Given the description of an element on the screen output the (x, y) to click on. 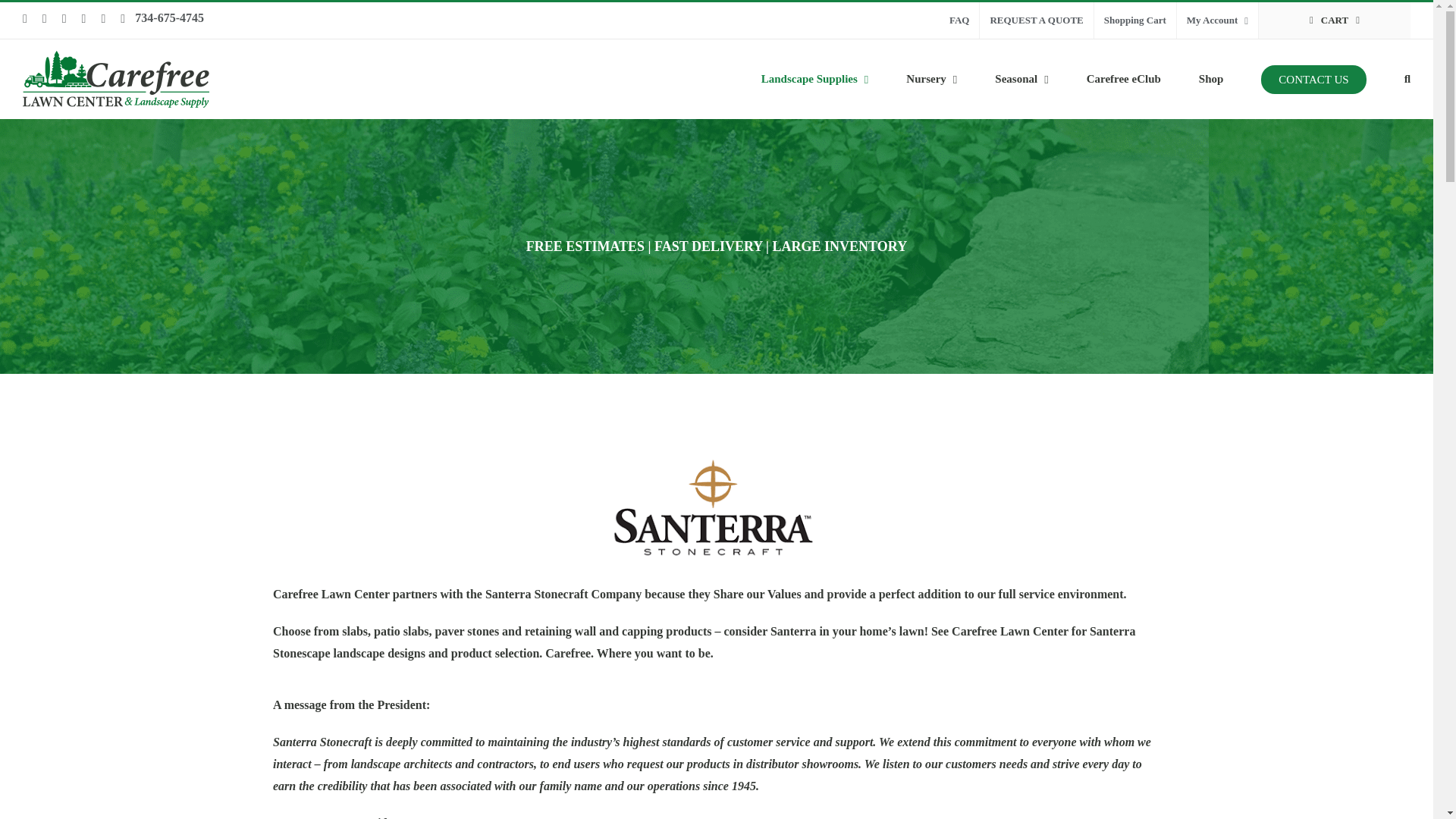
REQUEST A QUOTE (1036, 20)
734-675-4745 (169, 18)
Shopping Cart (1135, 20)
My Account (1216, 20)
CART (1334, 20)
FAQ (958, 20)
Log In (1284, 181)
Landscape Supplies (815, 78)
Santerra Logo (716, 508)
